Given the description of an element on the screen output the (x, y) to click on. 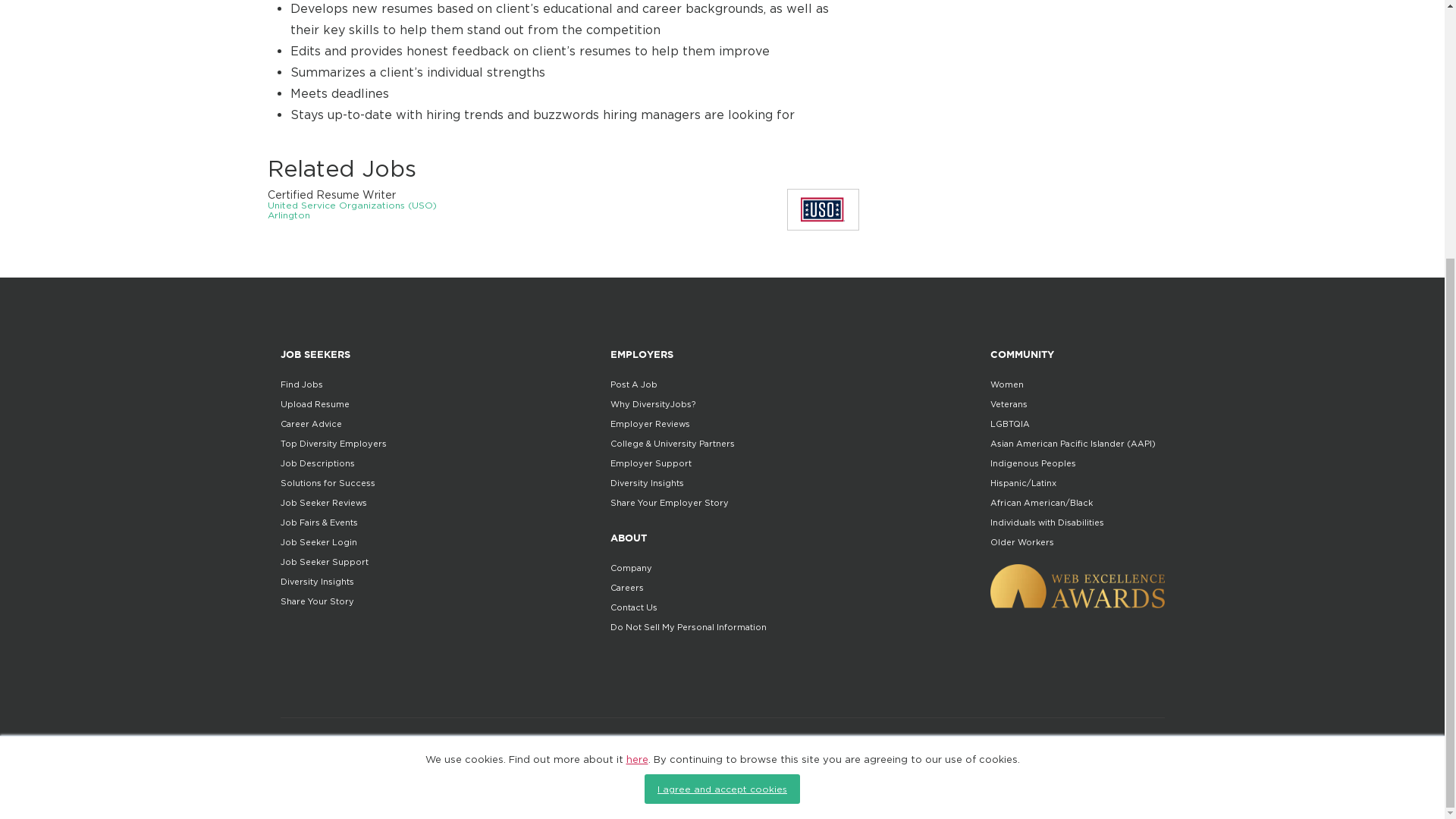
United-Service-Organizations-Uso (822, 209)
here (636, 389)
I agree and accept cookies (722, 419)
